Given the description of an element on the screen output the (x, y) to click on. 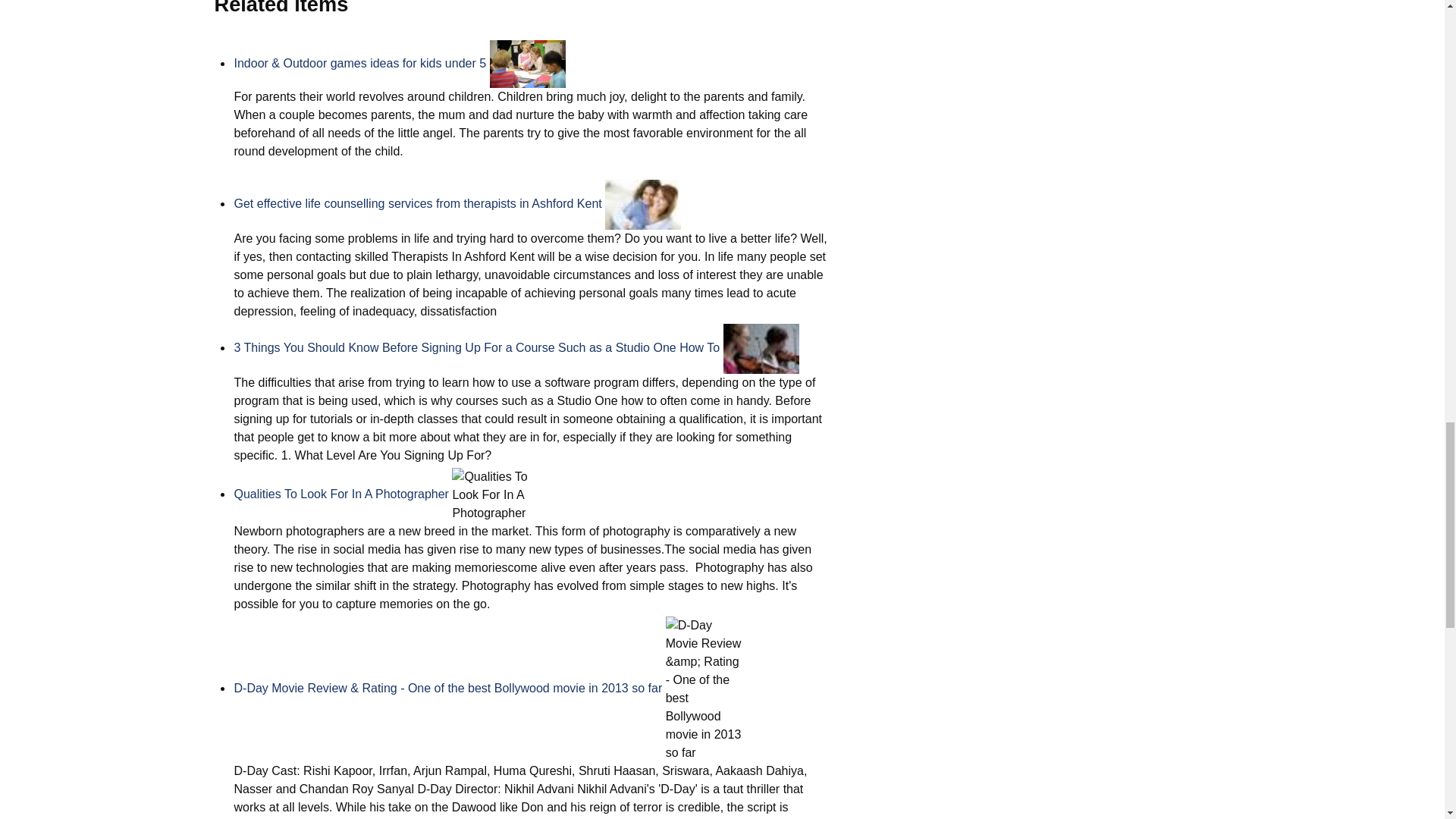
Qualities To Look For In A Photographer (340, 493)
